Given the description of an element on the screen output the (x, y) to click on. 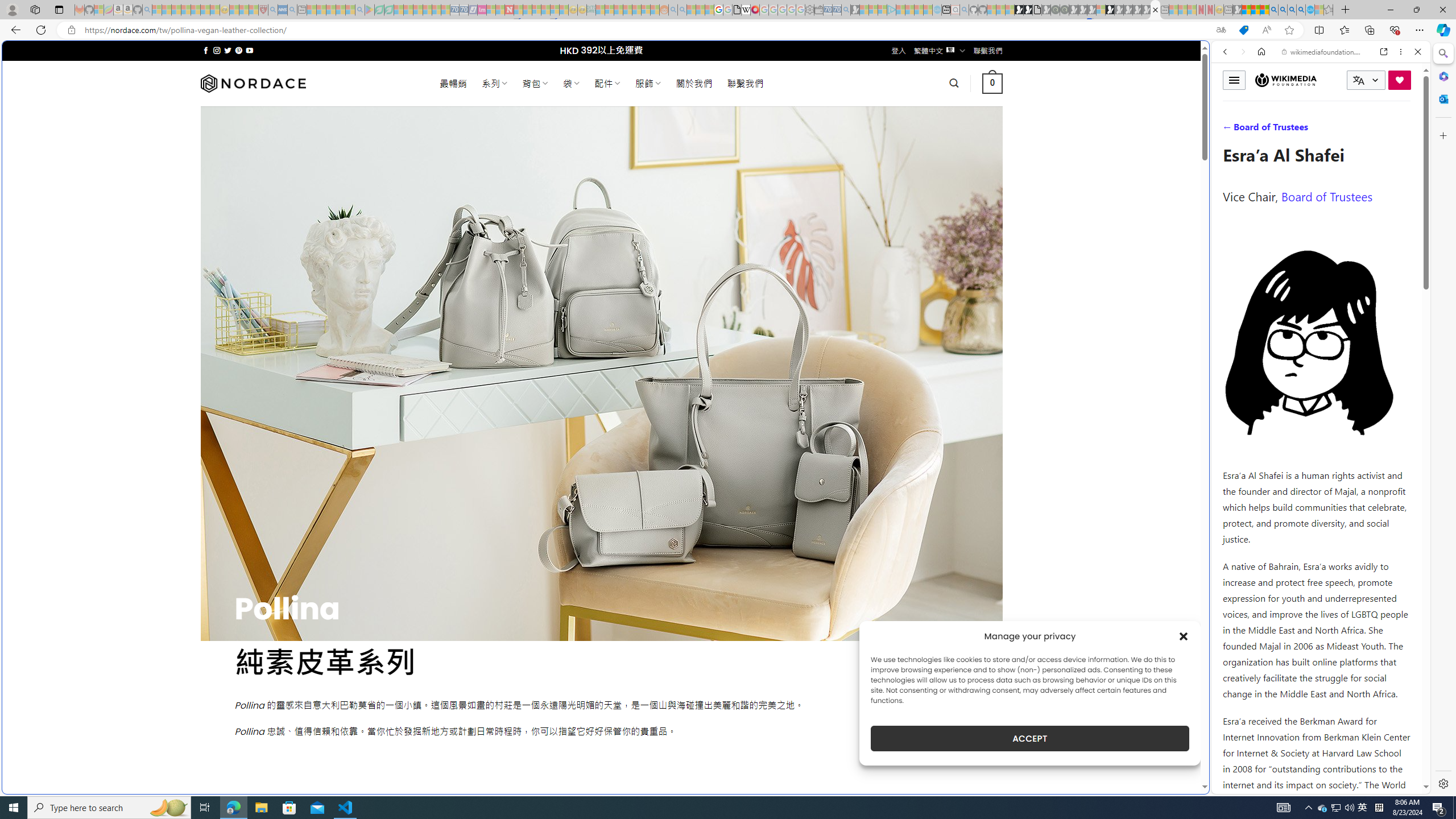
wikimediafoundation.org (1323, 51)
2009 Bing officially replaced Live Search on June 3 - Search (1283, 9)
